Given the description of an element on the screen output the (x, y) to click on. 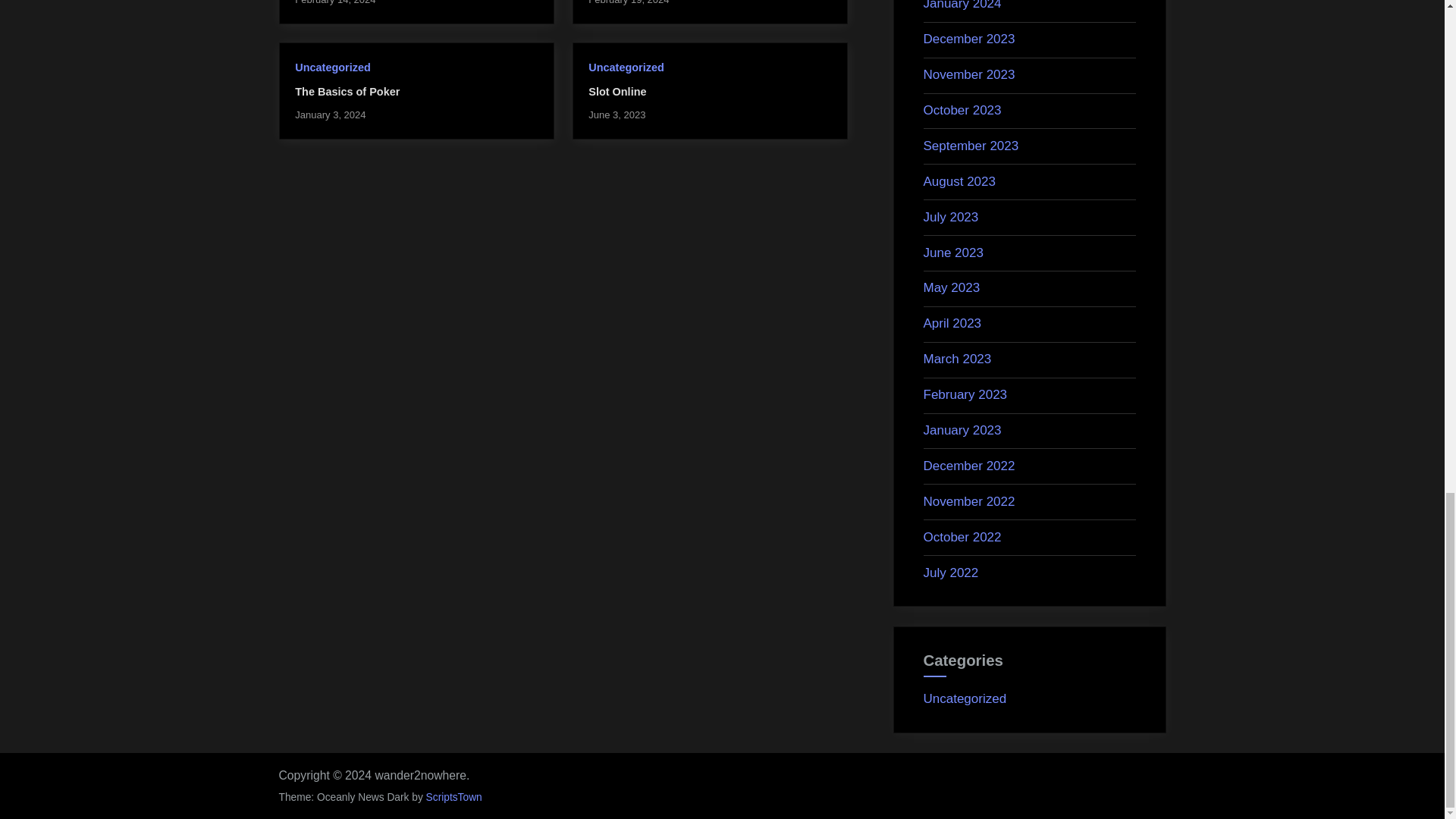
Uncategorized (625, 67)
Uncategorized (332, 67)
Slot Online (617, 91)
October 2023 (962, 110)
November 2023 (968, 74)
January 2024 (962, 5)
September 2023 (971, 145)
December 2023 (968, 38)
The Basics of Poker (346, 91)
